Given the description of an element on the screen output the (x, y) to click on. 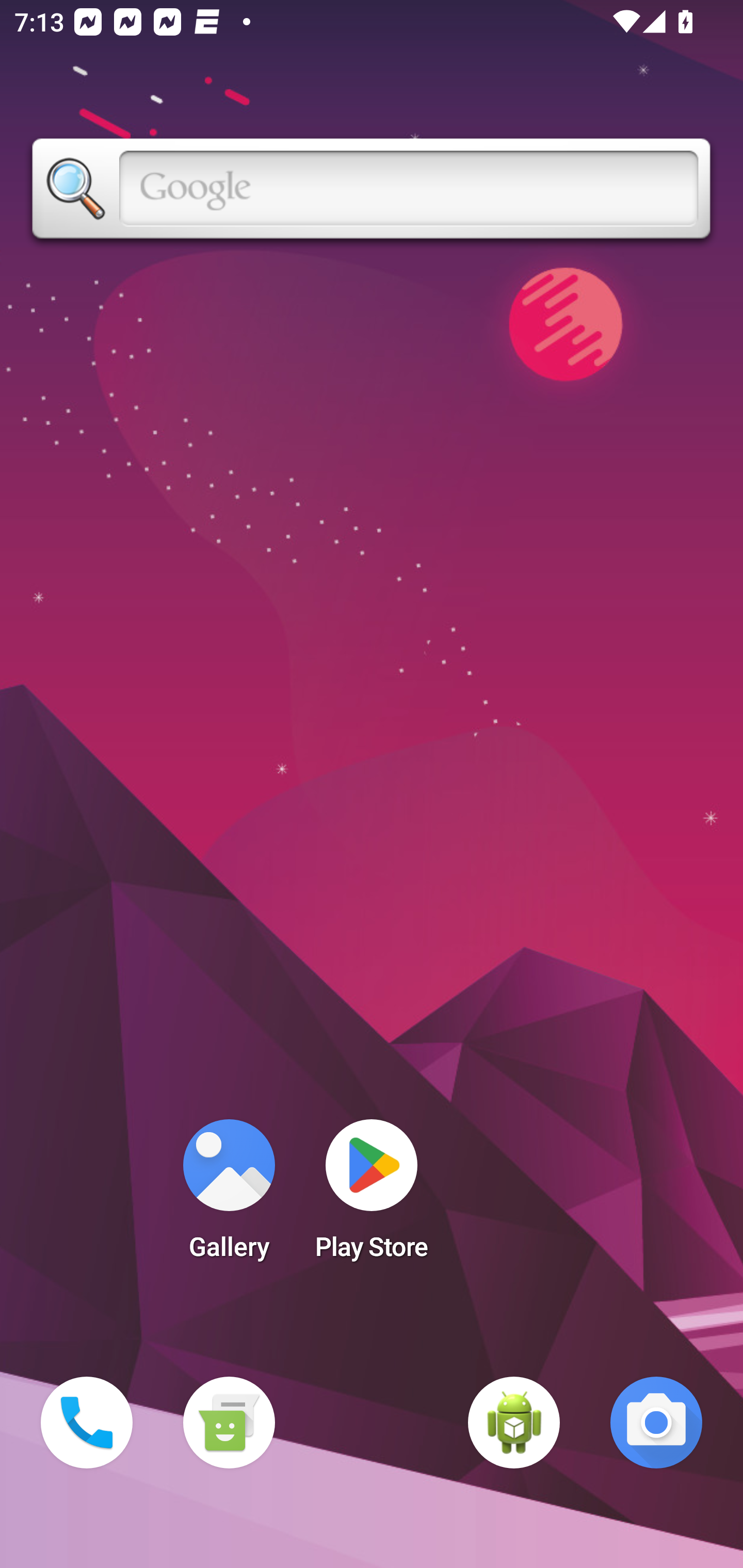
Gallery (228, 1195)
Play Store (371, 1195)
Phone (86, 1422)
Messaging (228, 1422)
WebView Browser Tester (513, 1422)
Camera (656, 1422)
